Given the description of an element on the screen output the (x, y) to click on. 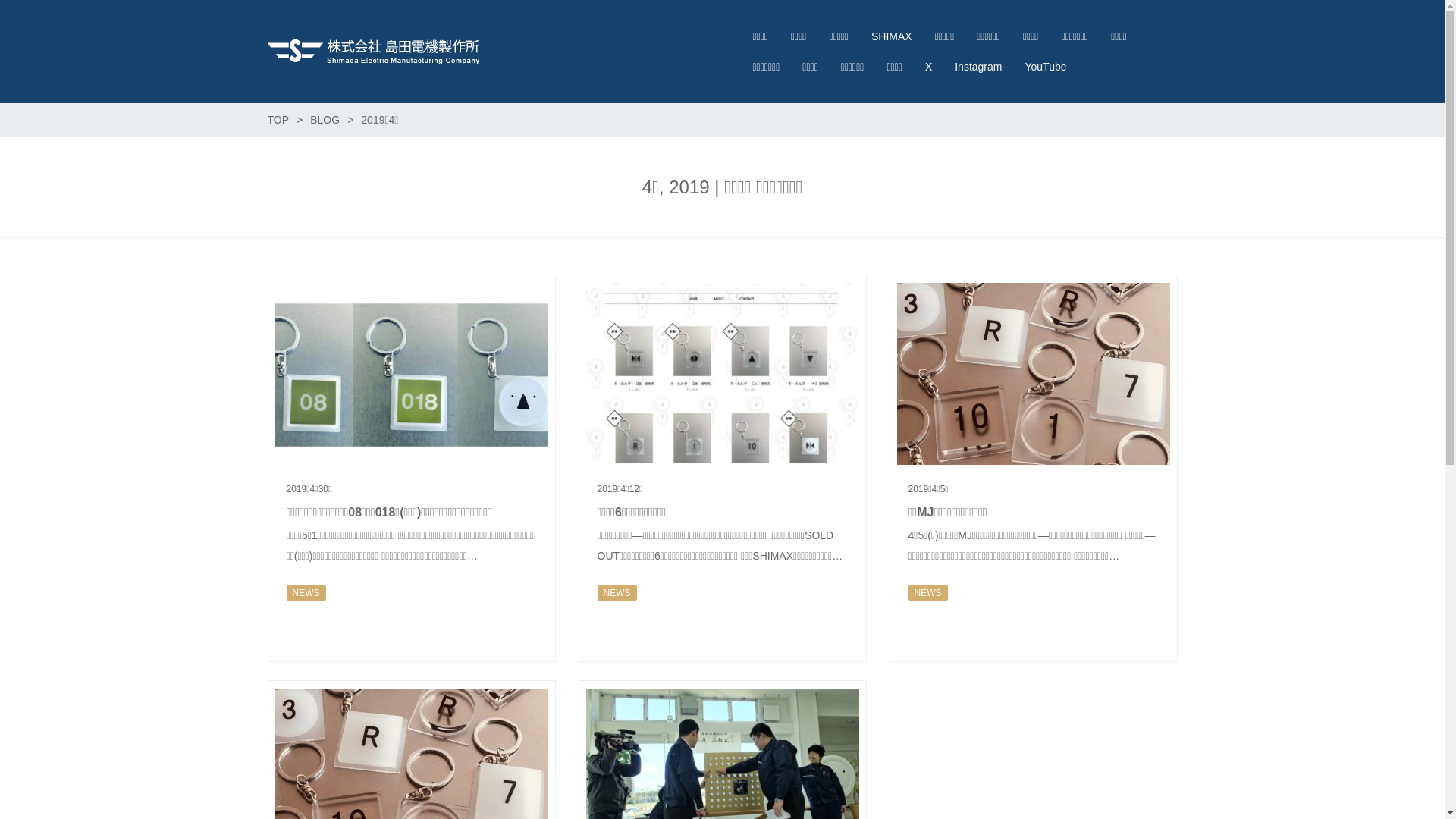
X Element type: text (928, 66)
Instagram Element type: text (978, 66)
YouTube Element type: text (1045, 66)
SHIMAX Element type: text (891, 36)
